Given the description of an element on the screen output the (x, y) to click on. 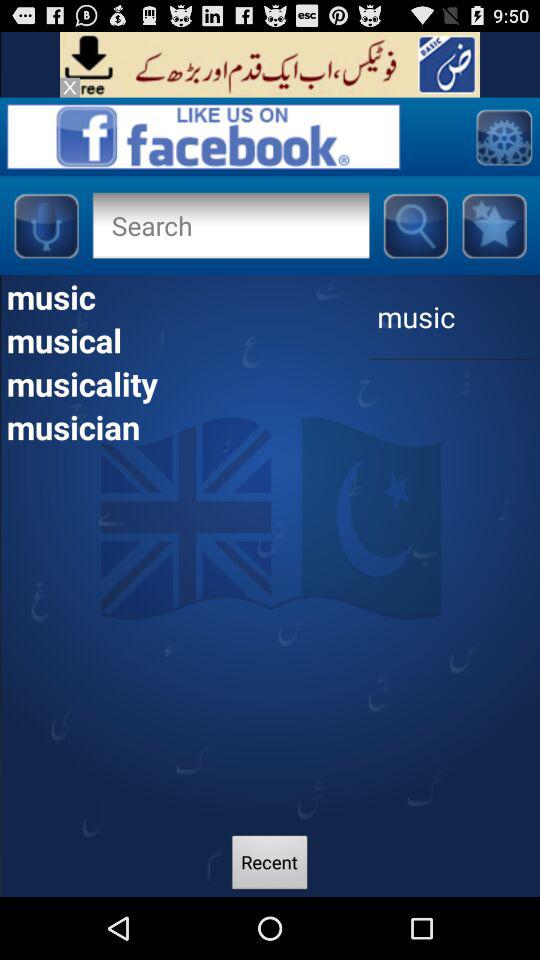
go to site (270, 64)
